Given the description of an element on the screen output the (x, y) to click on. 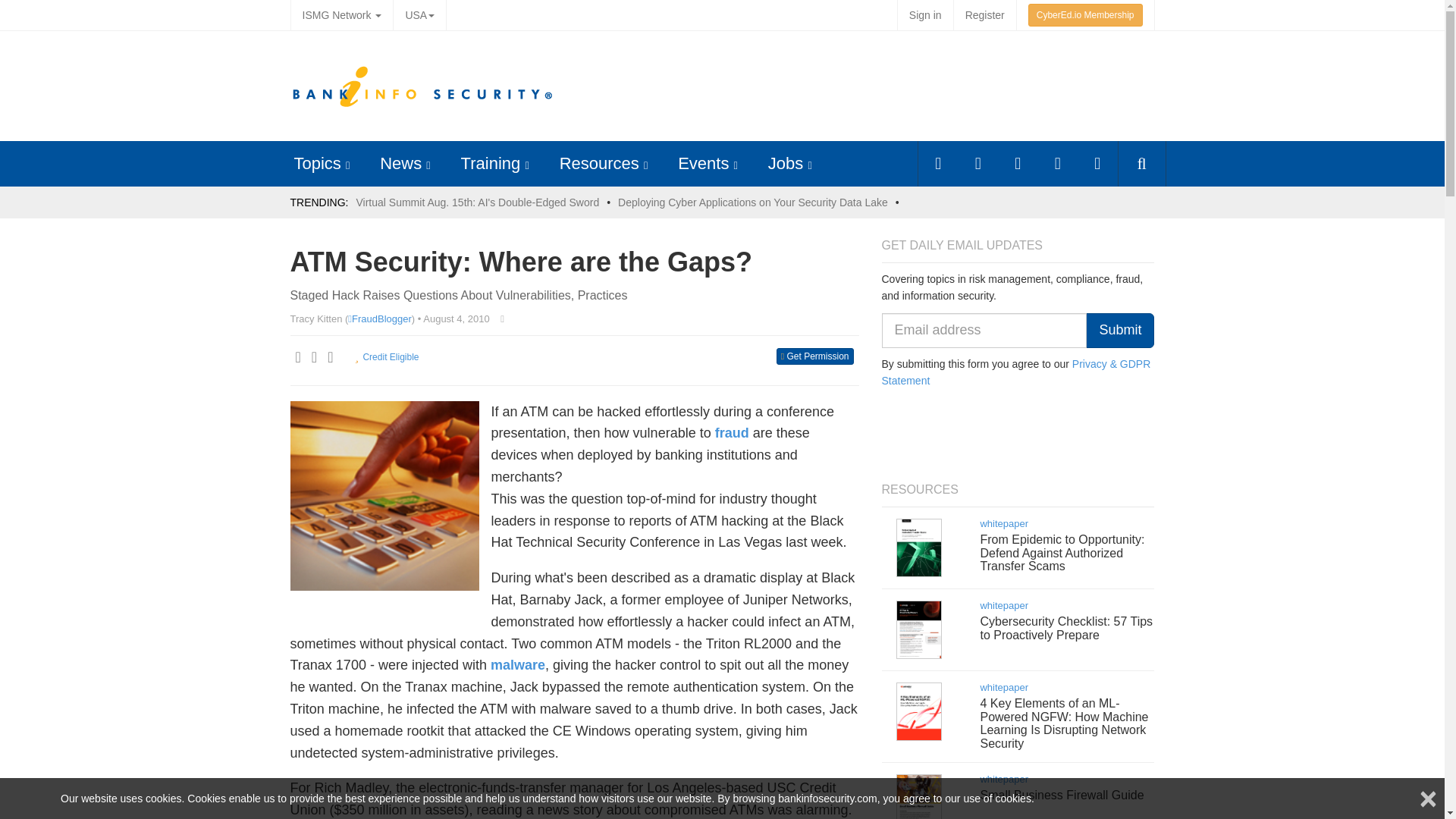
CyberEd.io Membership (1084, 15)
Topics (317, 162)
ISMG Network (341, 15)
USA (418, 15)
Register (984, 15)
Sign in (925, 15)
